Given the description of an element on the screen output the (x, y) to click on. 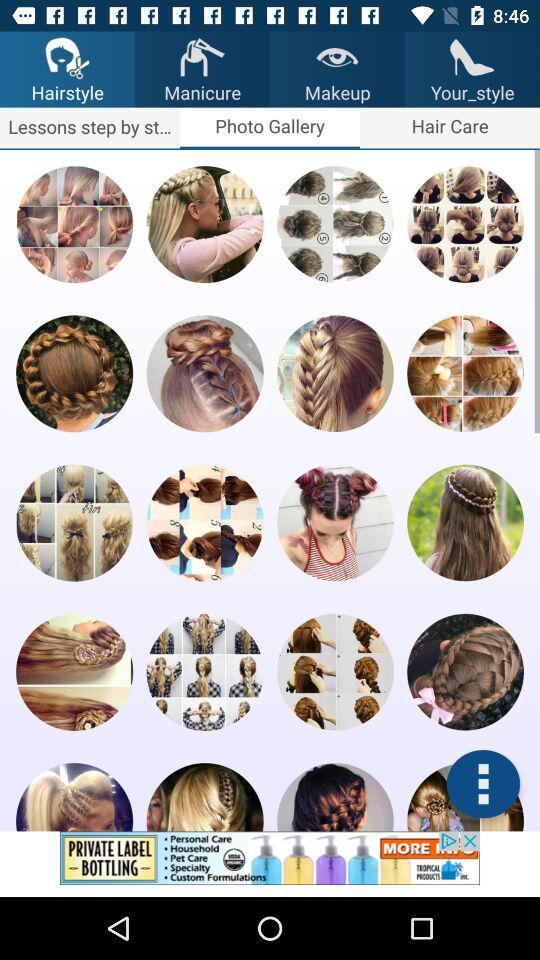
select hair style (74, 797)
